Given the description of an element on the screen output the (x, y) to click on. 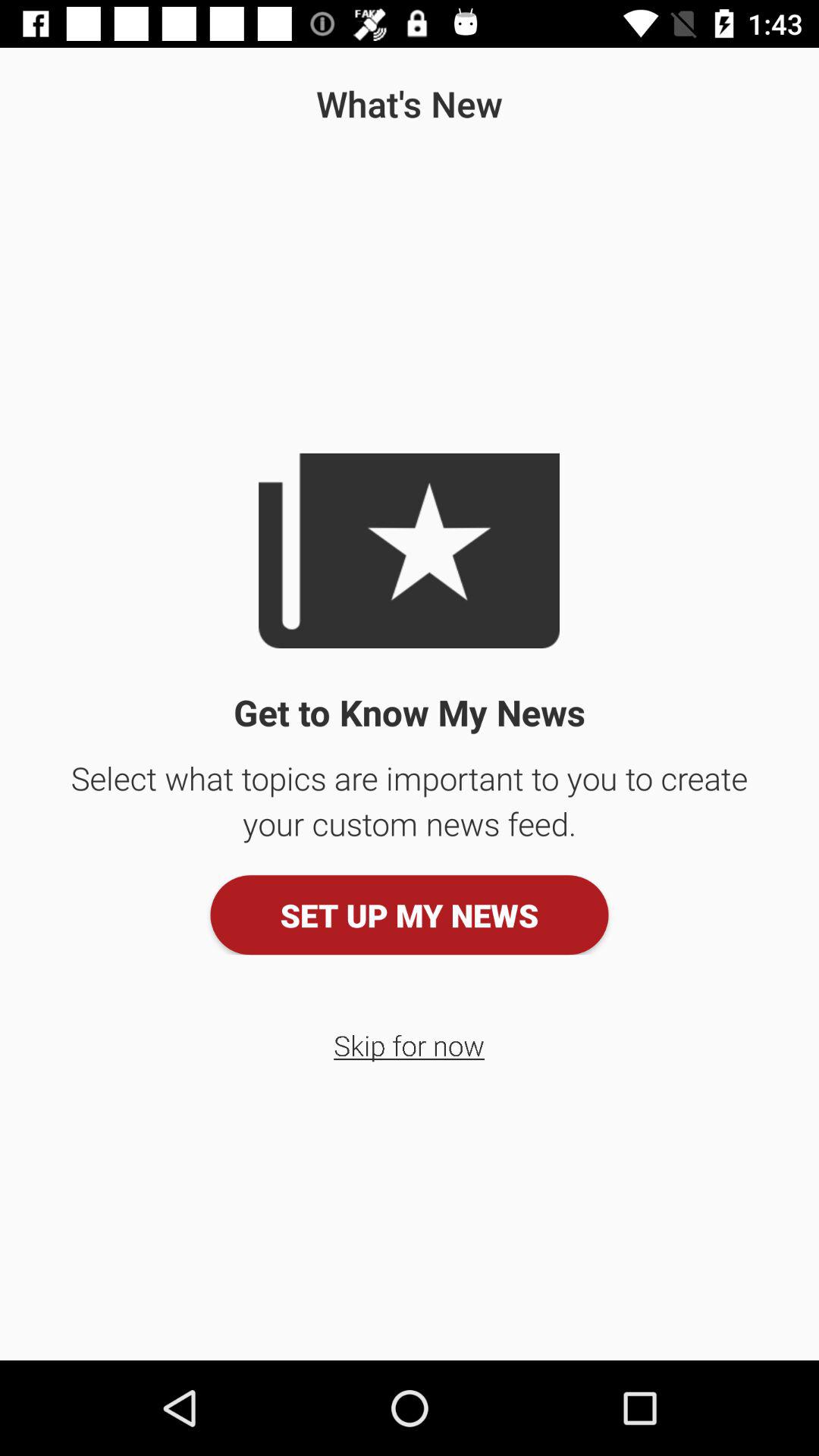
jump until the skip for now app (409, 1044)
